Given the description of an element on the screen output the (x, y) to click on. 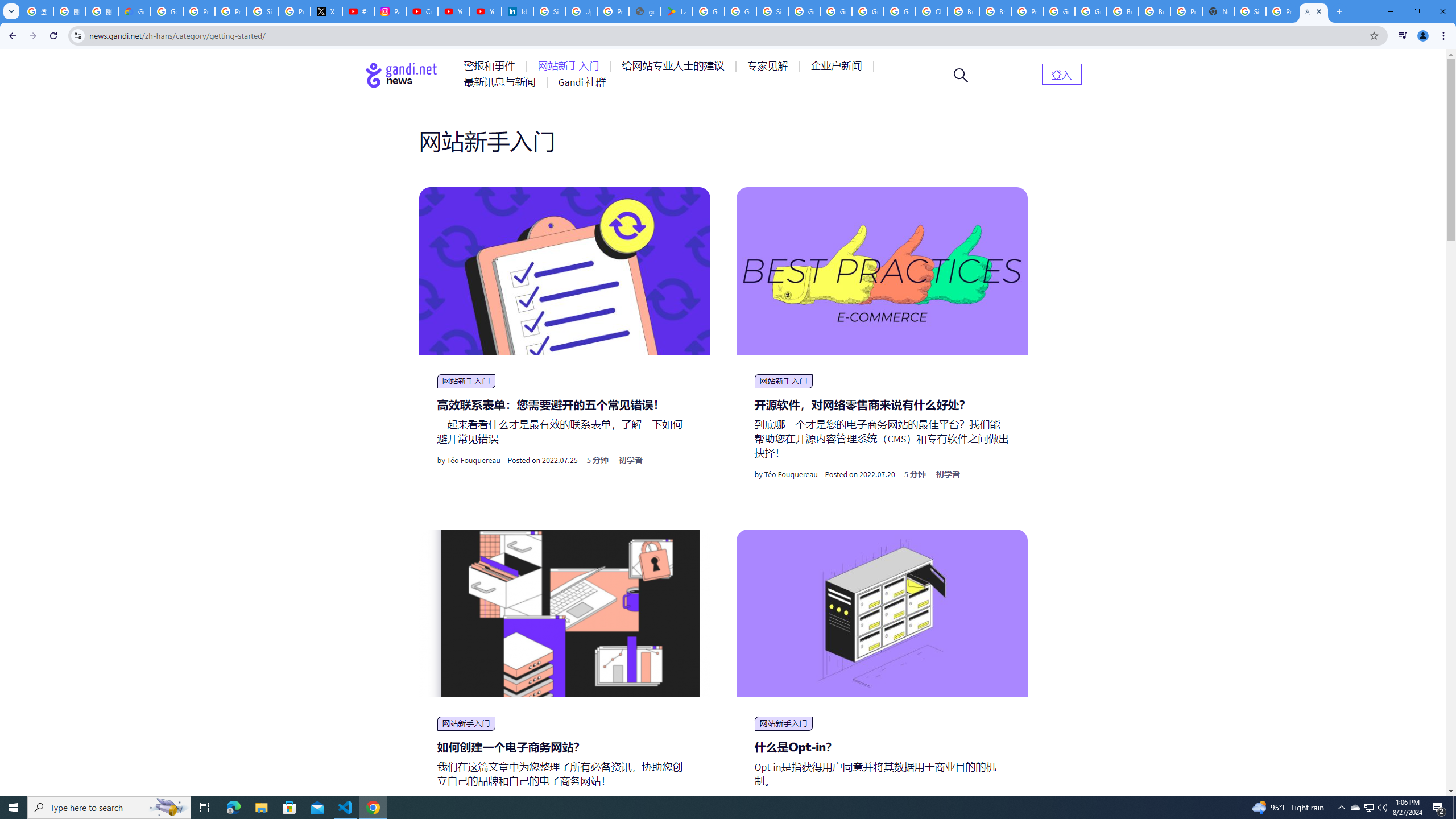
#nbabasketballhighlights - YouTube (358, 11)
Sign in - Google Accounts (549, 11)
Privacy Help Center - Policies Help (198, 11)
Browse Chrome as a guest - Computer - Google Chrome Help (995, 11)
Go to home (401, 75)
